Given the description of an element on the screen output the (x, y) to click on. 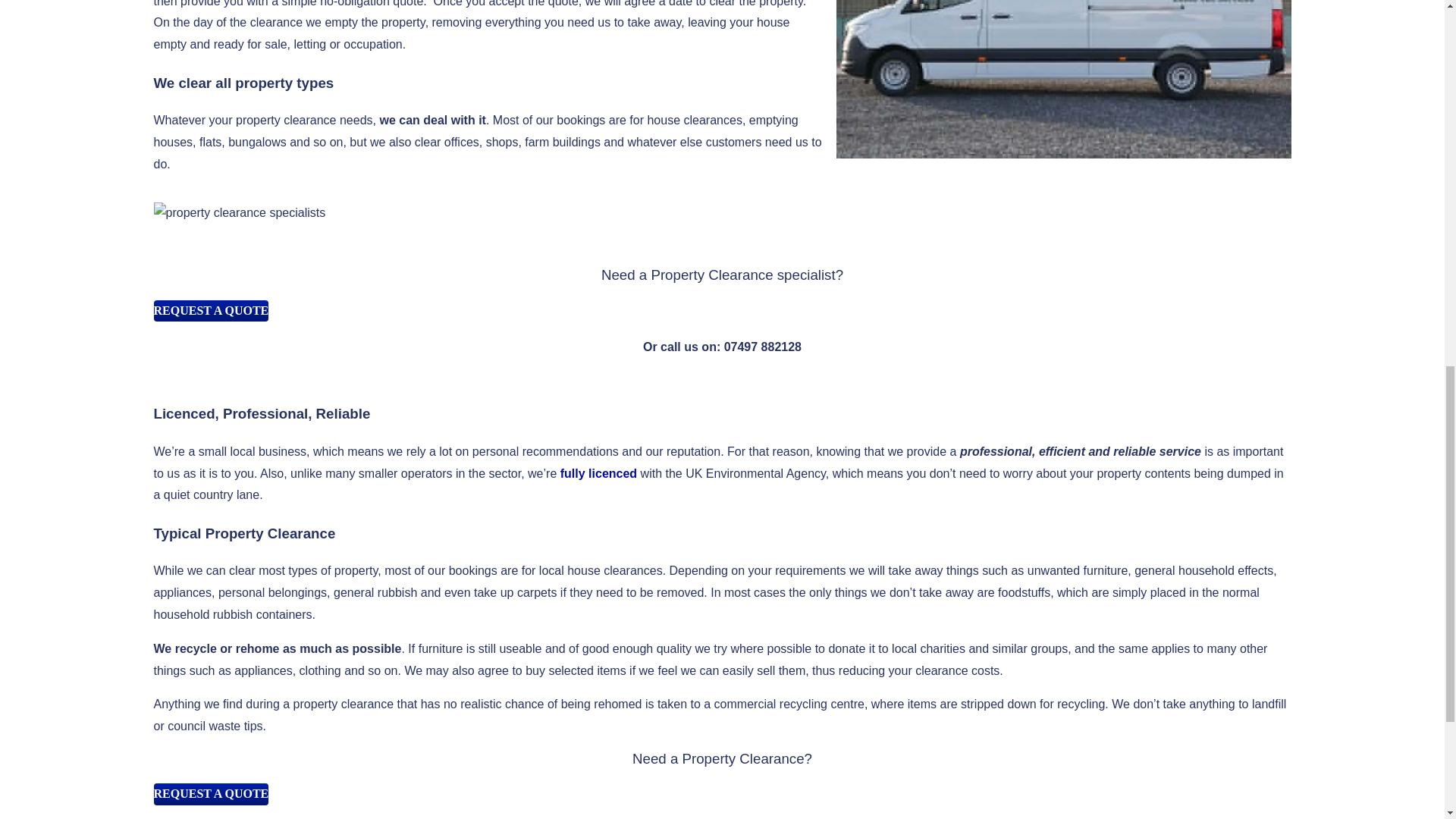
fully licenced (598, 472)
REQUEST A QUOTE (209, 311)
REQUEST A QUOTE (209, 793)
